Given the description of an element on the screen output the (x, y) to click on. 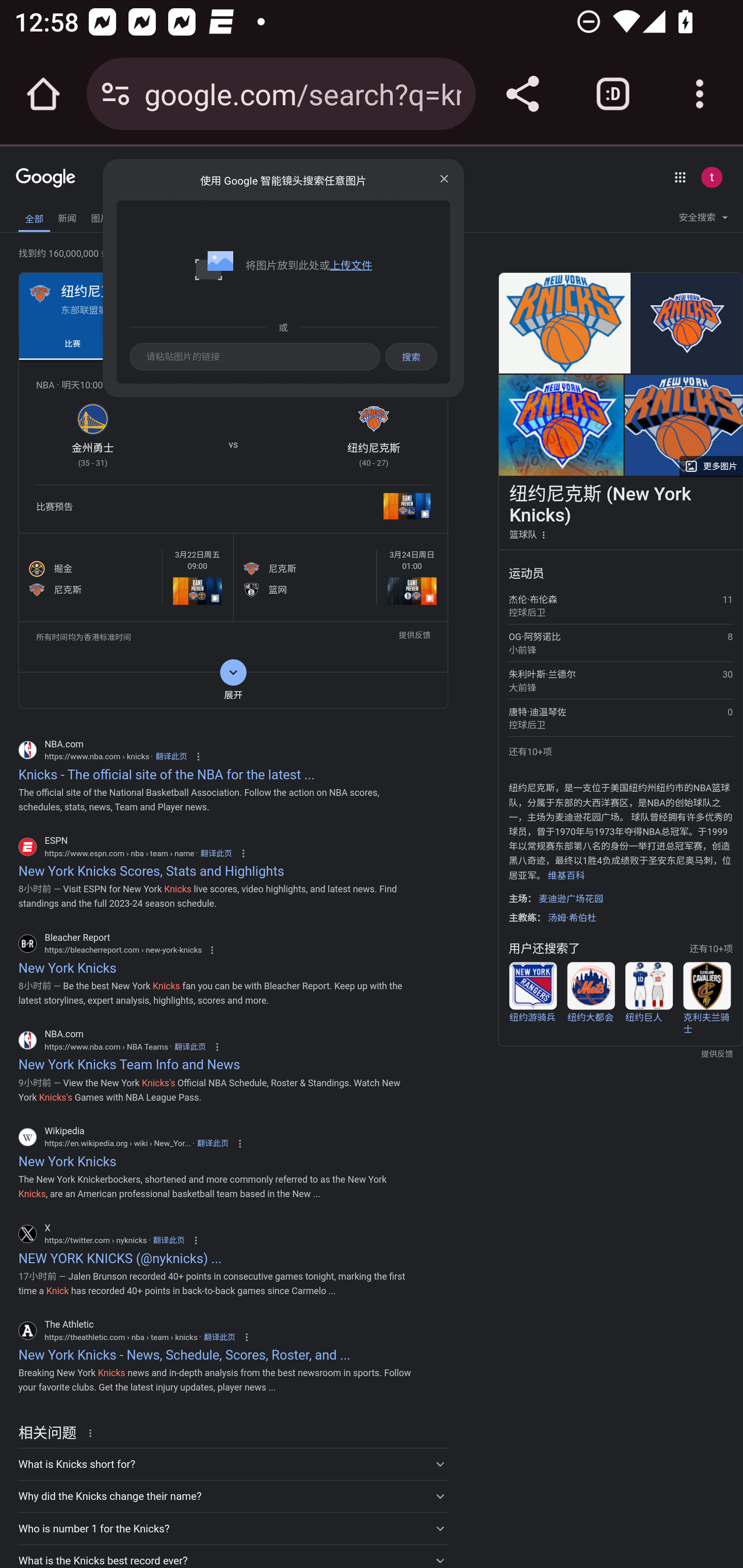
Open the home page (43, 93)
Connection is secure (115, 93)
Share (522, 93)
Switch or close tabs (612, 93)
Customize and control Google Chrome (699, 93)
搜索 (445, 176)
Google 应用 (679, 176)
Google 账号： test appium (testappium002@gmail.com) (711, 176)
Google (45, 178)
新闻 (67, 216)
图片 (99, 216)
视频 (133, 216)
购物 (166, 216)
更多 (205, 216)
安全搜索 (703, 219)
工具 (443, 216)
比赛预告 (232, 508)
提供反馈 (413, 637)
展开 (232, 689)
翻译此页 (170, 757)
翻译此页 (215, 852)
翻译此页 (189, 1045)
翻译此页 (212, 1142)
翻译此页 (169, 1240)
翻译此页 (219, 1337)
关于这条结果的详细信息 (93, 1432)
What is Knicks short for? (232, 1463)
Why did the Knicks change their name? (232, 1495)
Who is number 1 for the Knicks? (232, 1527)
What is the Knicks best record ever? (232, 1556)
